Given the description of an element on the screen output the (x, y) to click on. 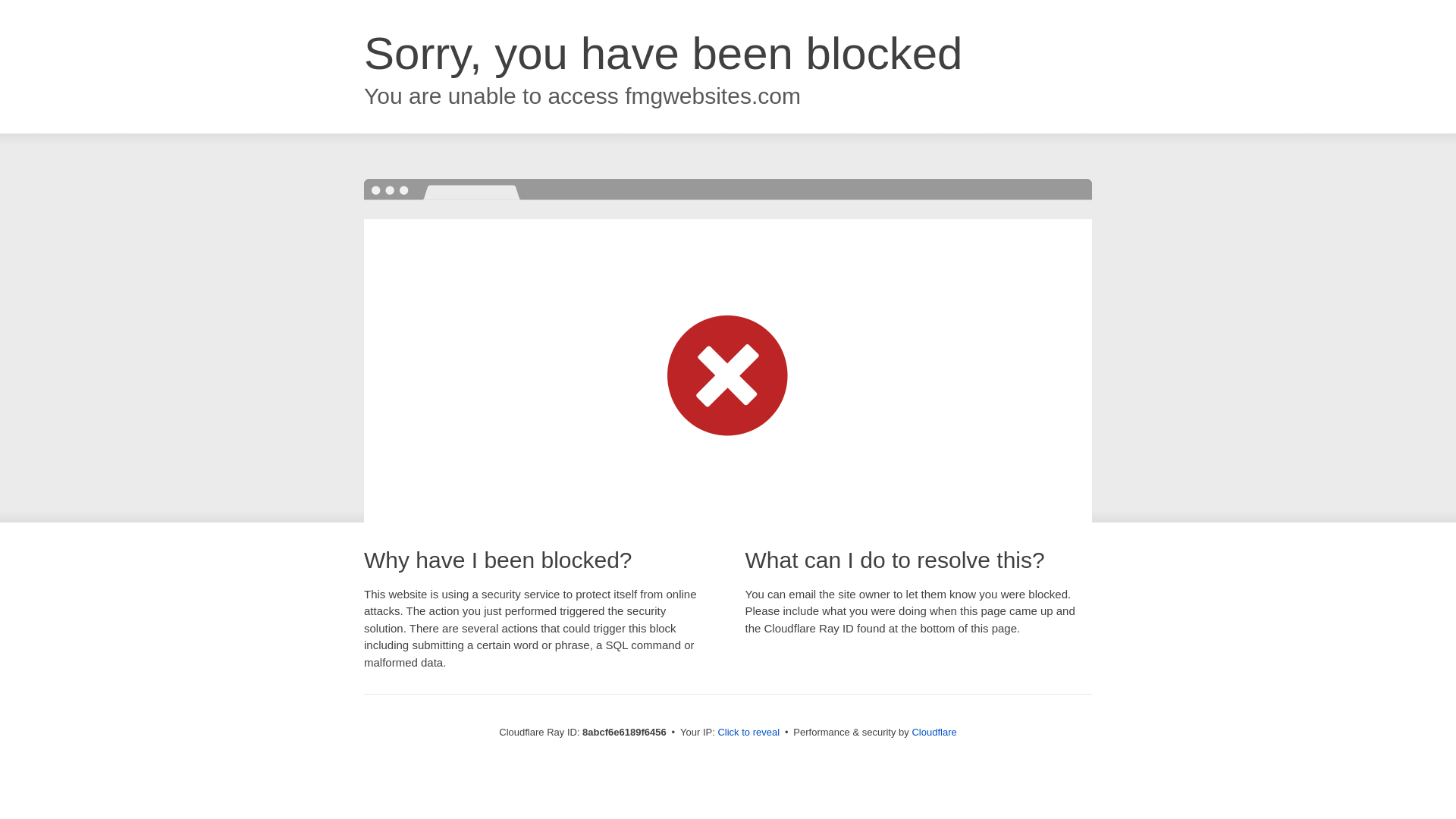
Cloudflare (933, 731)
Click to reveal (747, 732)
